Given the description of an element on the screen output the (x, y) to click on. 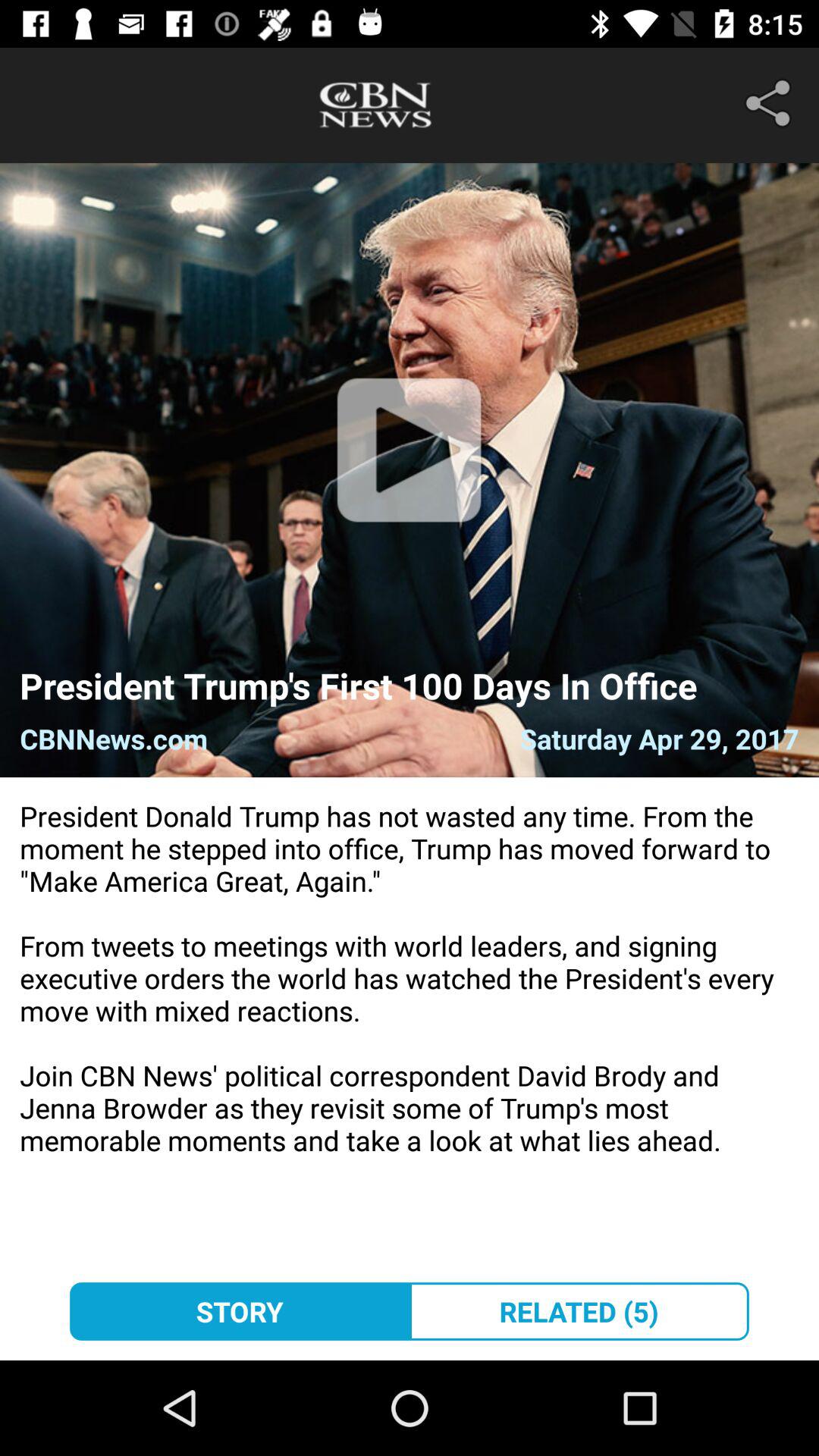
press the item below the president donald trump icon (579, 1311)
